Given the description of an element on the screen output the (x, y) to click on. 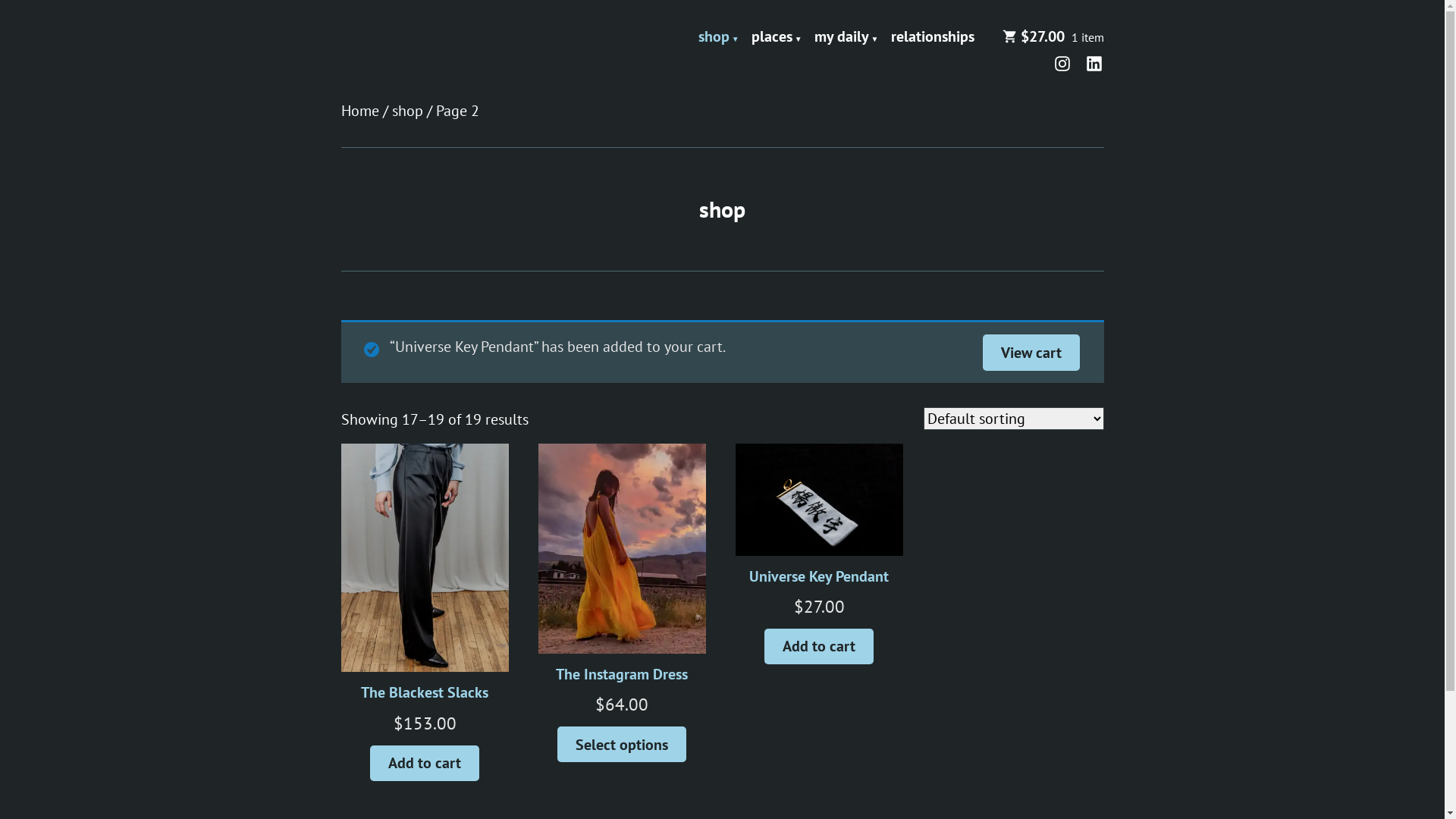
Universe Key Pendant
$27.00 Element type: text (819, 549)
The Instagram Dress
$64.00 Element type: text (622, 598)
Select options Element type: text (621, 744)
shop Element type: text (406, 110)
relationships Element type: text (931, 36)
shop Element type: text (718, 36)
Instagram Element type: text (1065, 62)
Linkedin Element type: text (1091, 62)
$27.00 1 item Element type: text (1053, 36)
The Blackest Slacks
$153.00 Element type: text (425, 608)
Home Element type: text (360, 110)
Add to cart Element type: text (818, 646)
Add to cart Element type: text (424, 763)
places Element type: text (776, 36)
my daily Element type: text (846, 36)
View cart Element type: text (1030, 352)
